Given the description of an element on the screen output the (x, y) to click on. 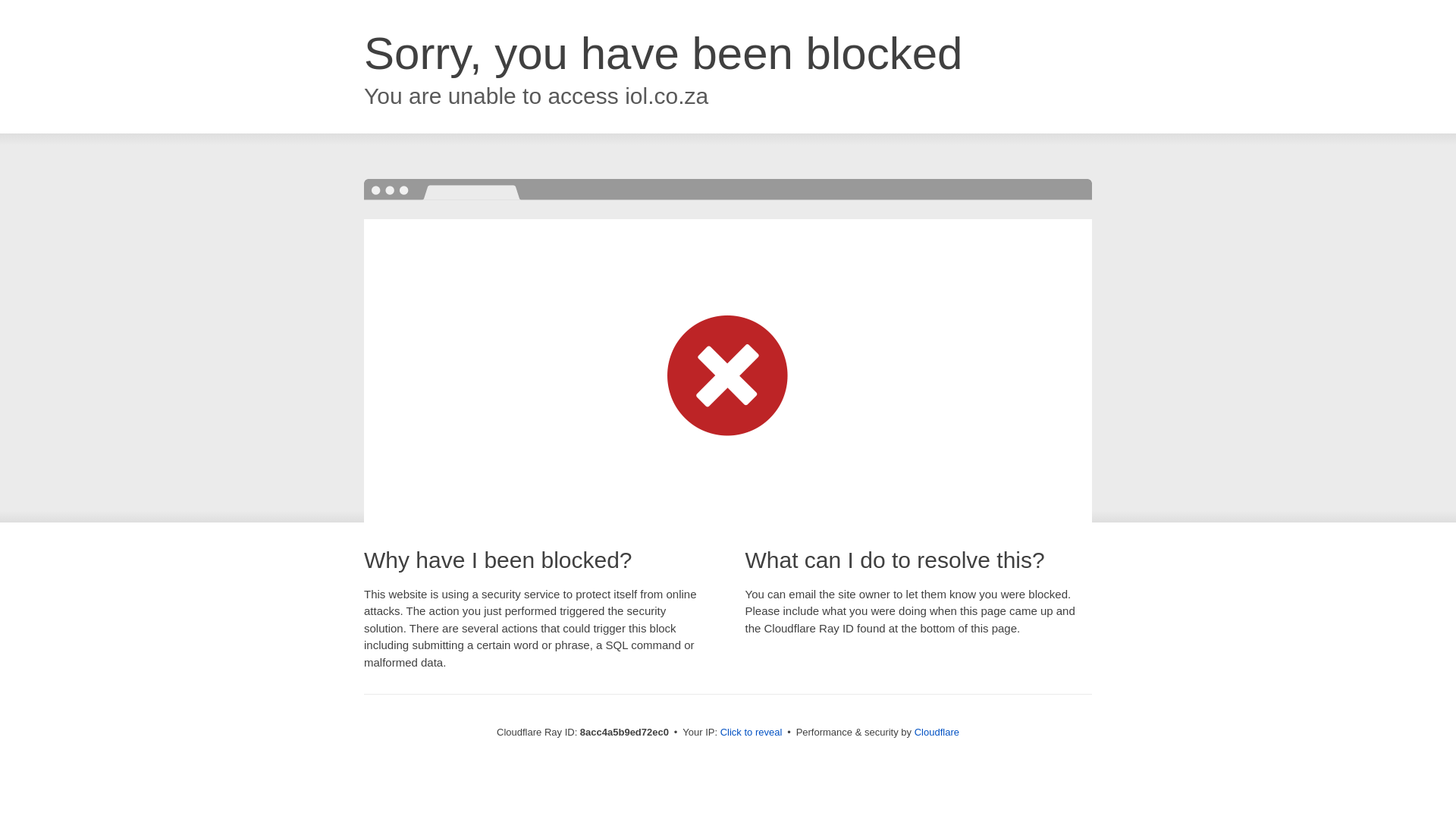
Click to reveal (751, 732)
Cloudflare (936, 731)
